Given the description of an element on the screen output the (x, y) to click on. 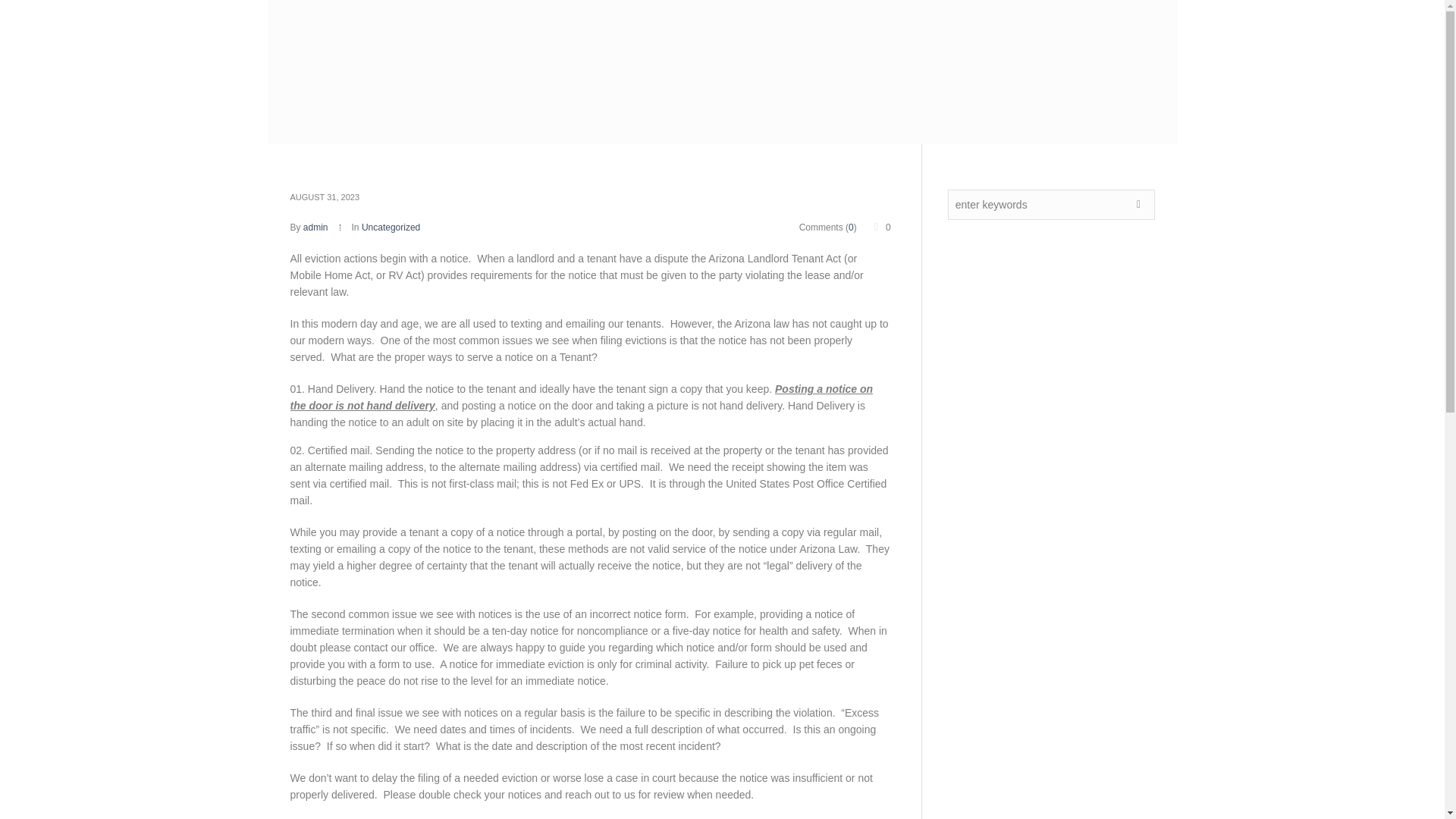
Posts by admin (315, 226)
0 (880, 226)
August 31, 2023 (324, 196)
admin (315, 226)
Uncategorized (390, 226)
